Given the description of an element on the screen output the (x, y) to click on. 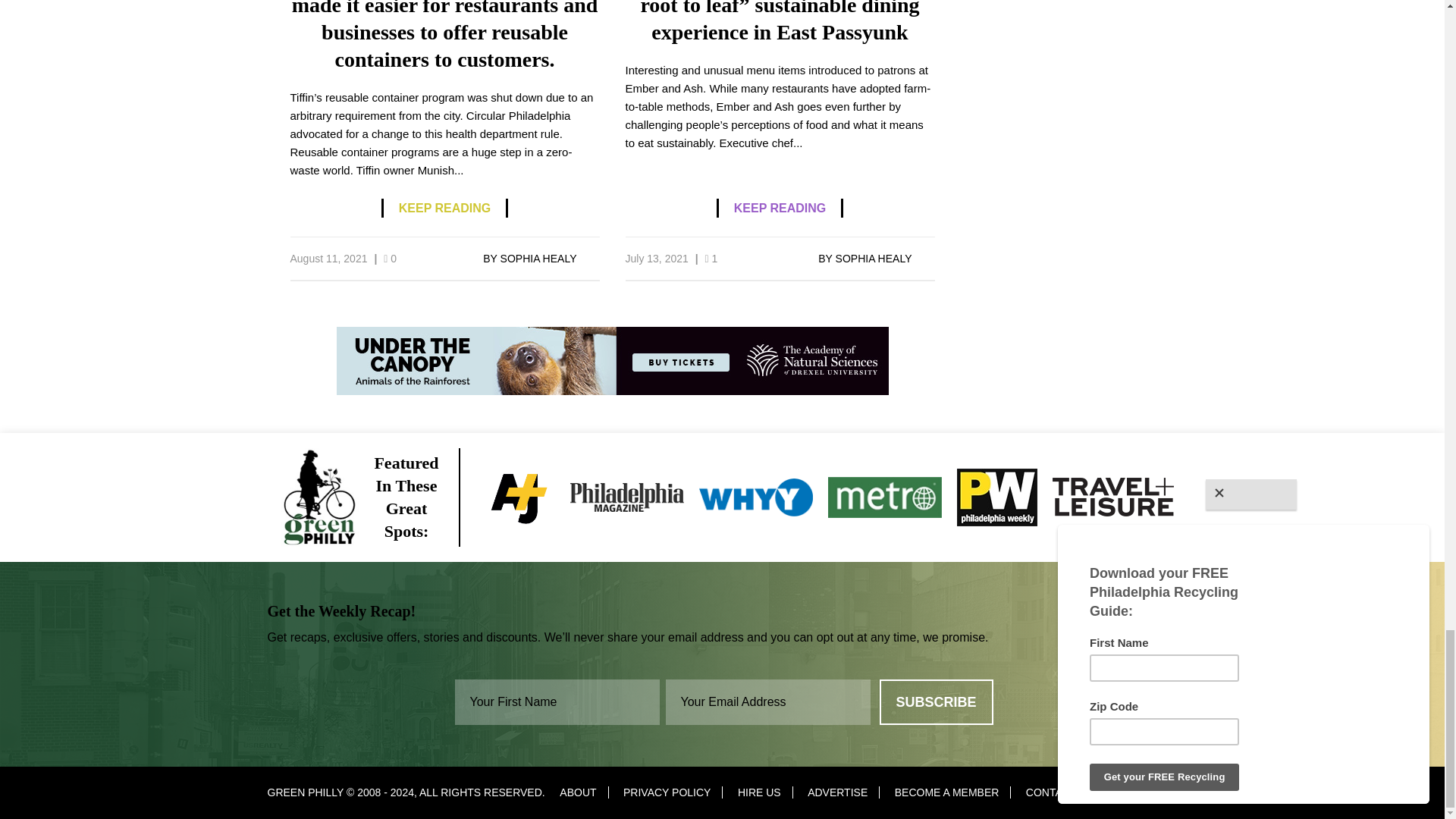
Subscribe (935, 701)
